Given the description of an element on the screen output the (x, y) to click on. 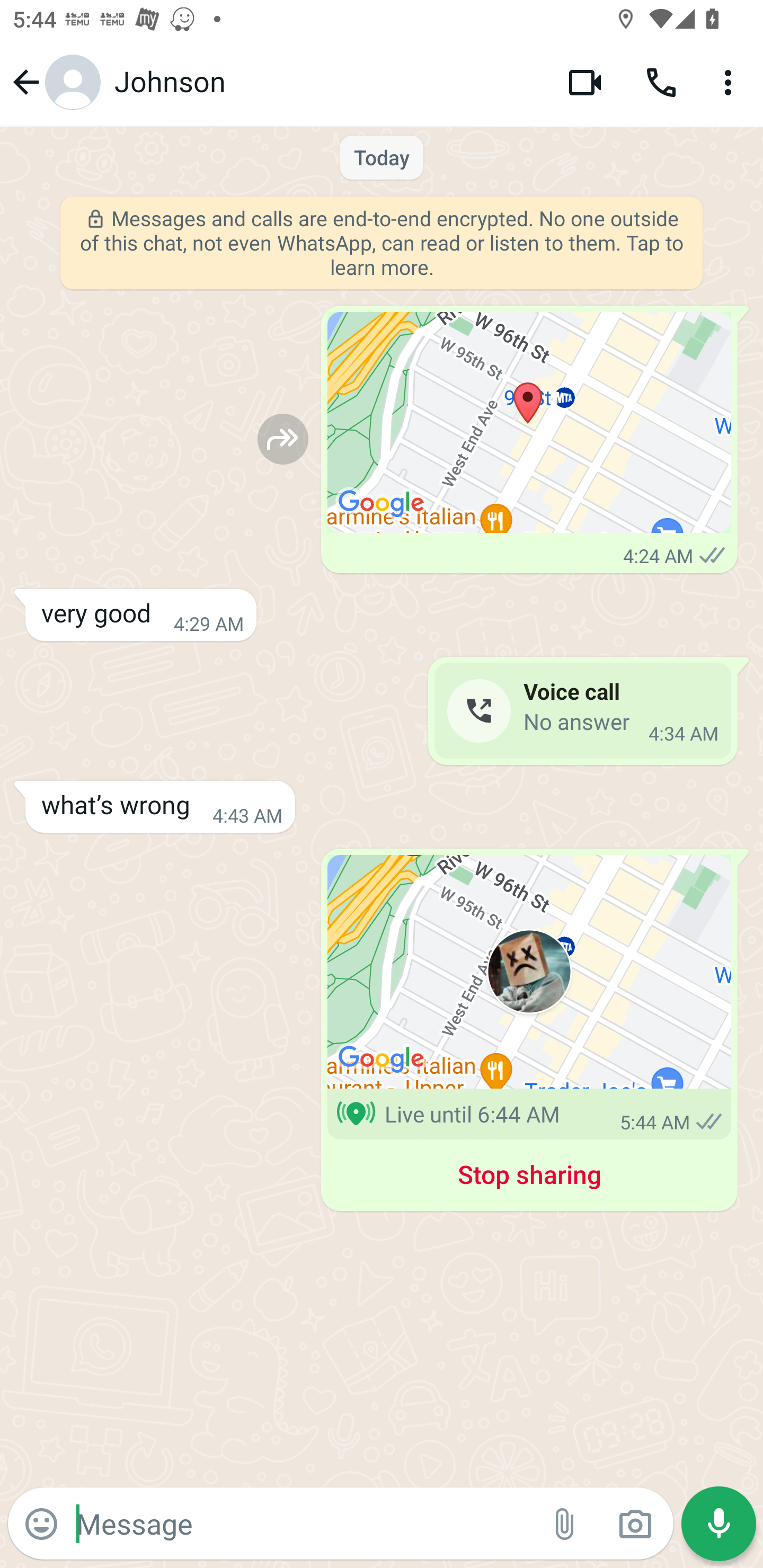
Johnson (327, 82)
Navigate up (54, 82)
Video call (585, 81)
Voice call (661, 81)
More options (731, 81)
Location (528, 422)
Forward to… (282, 438)
Live location (528, 971)
Stop sharing (529, 1178)
Emoji (41, 1523)
Attach (565, 1523)
Camera (634, 1523)
Message (303, 1523)
